Given the description of an element on the screen output the (x, y) to click on. 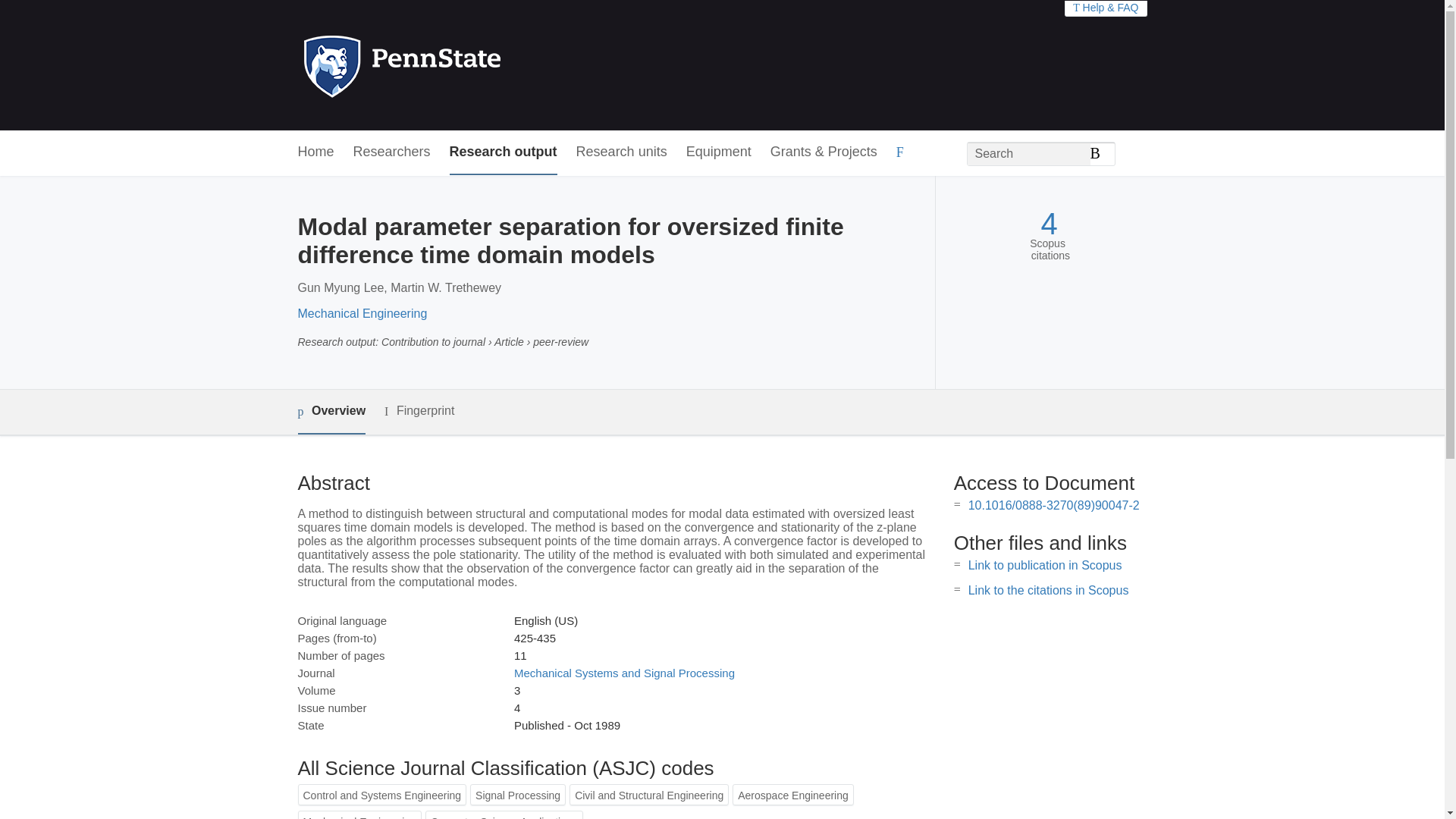
Link to the citations in Scopus (1048, 590)
Overview (331, 411)
Mechanical Engineering (361, 313)
Research output (503, 152)
Researchers (391, 152)
Fingerprint (419, 411)
Equipment (718, 152)
Research units (621, 152)
Mechanical Systems and Signal Processing (624, 672)
Penn State Home (467, 65)
Link to publication in Scopus (1045, 564)
